Given the description of an element on the screen output the (x, y) to click on. 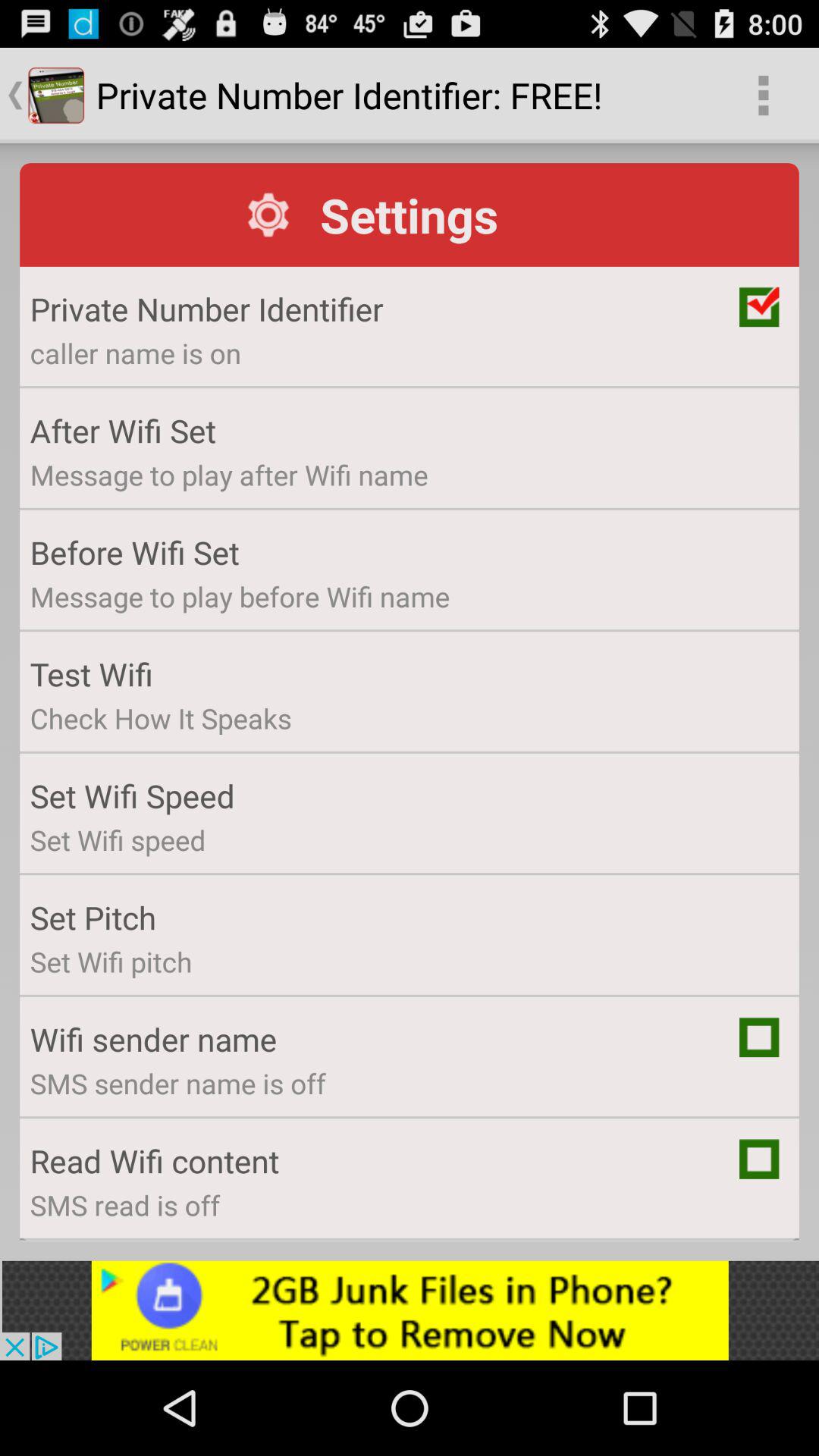
select option (759, 1159)
